Given the description of an element on the screen output the (x, y) to click on. 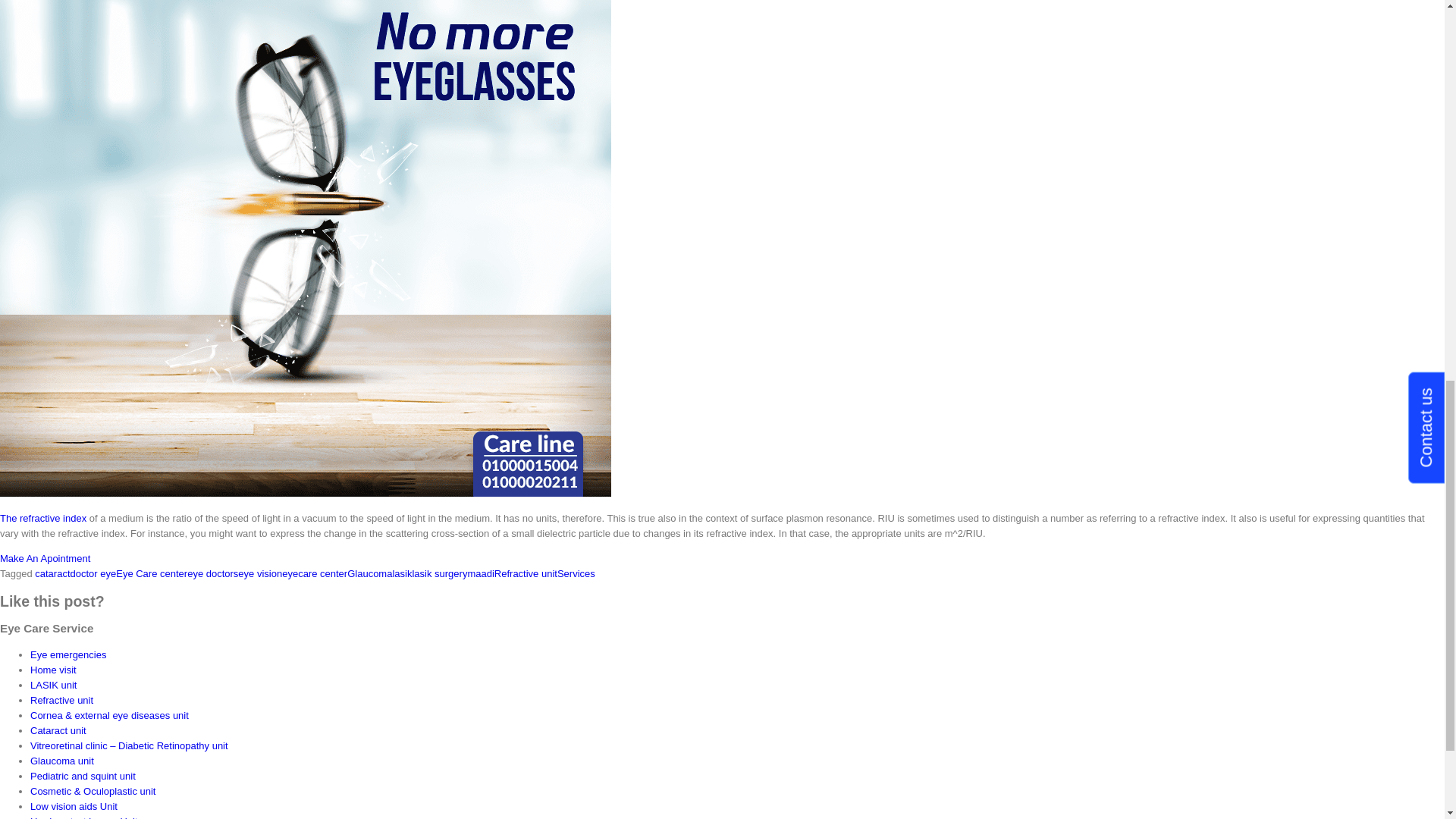
doctor eye (92, 573)
cataract (51, 573)
Make An Apointment (45, 558)
The refractive index (42, 518)
Make An Apointment (45, 558)
Eye Care center (151, 573)
eye doctors (212, 573)
